Given the description of an element on the screen output the (x, y) to click on. 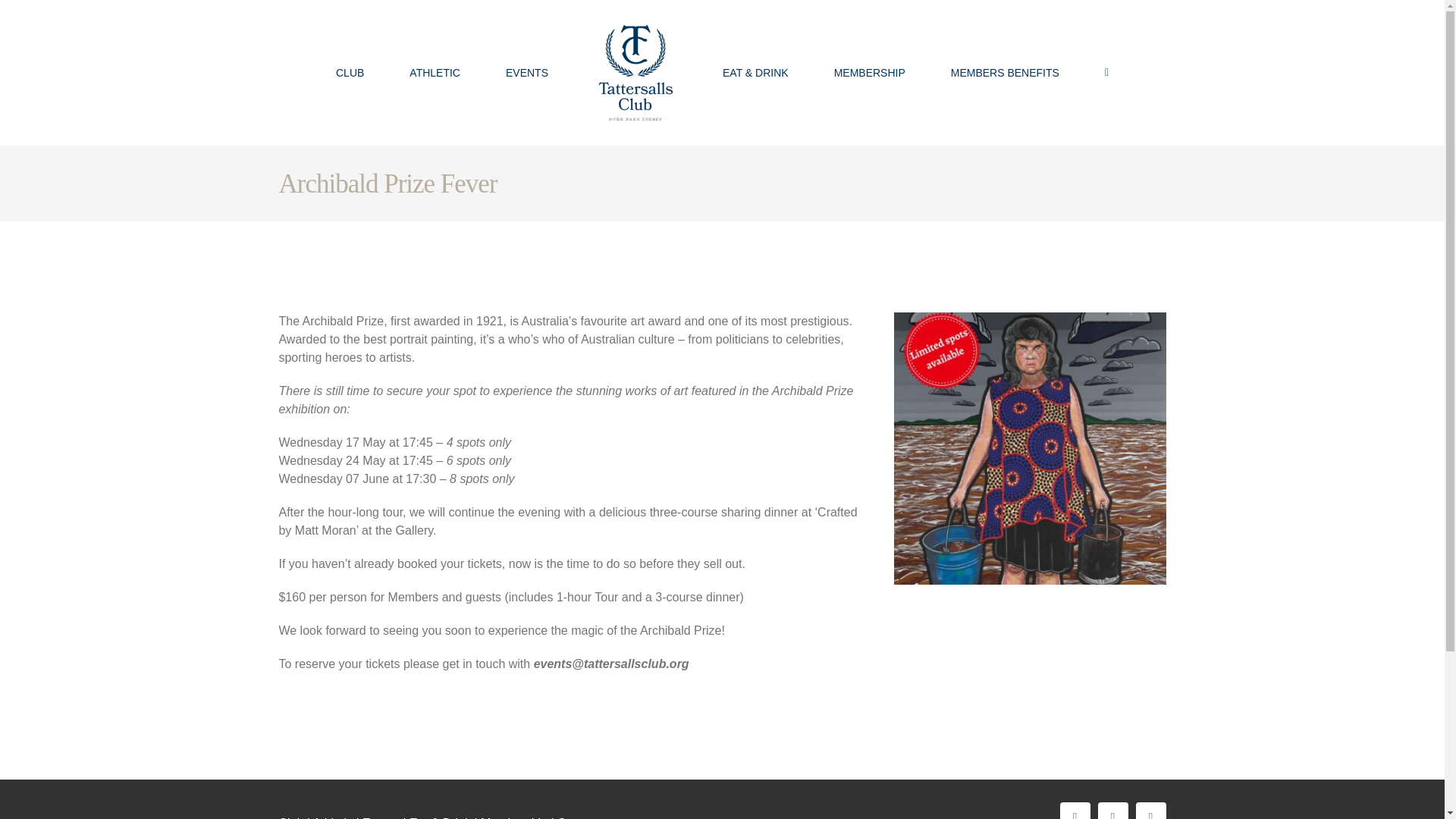
Limited spots available square (1029, 448)
Membership (513, 817)
Facebook (1074, 810)
MEMBERSHIP (869, 72)
Athletic (332, 817)
Membership (869, 72)
Instagram (1112, 810)
MEMBERS BENEFITS (1004, 72)
Events (380, 817)
LinkedIn (1150, 810)
